Given the description of an element on the screen output the (x, y) to click on. 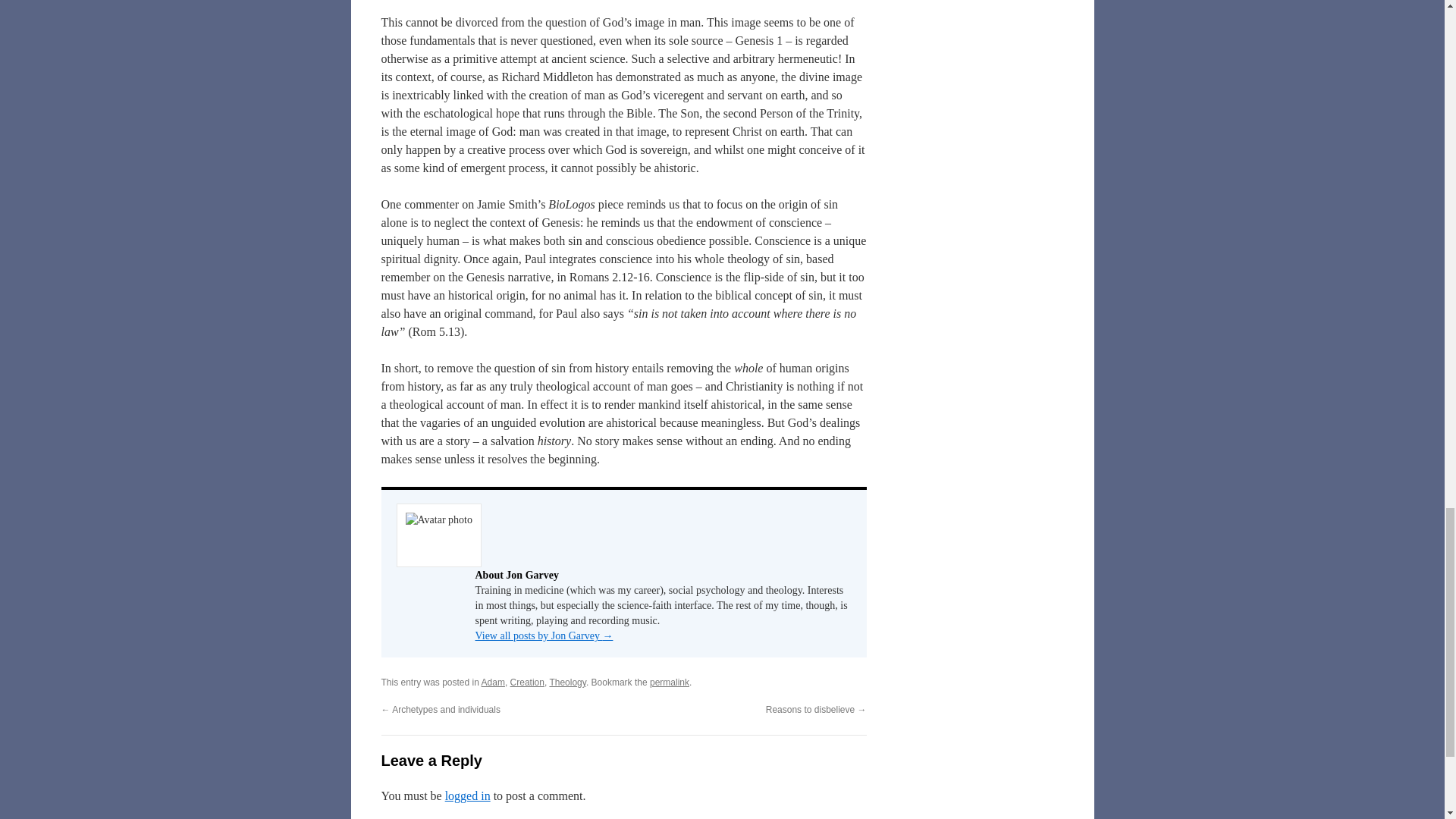
Adam (493, 682)
Creation (527, 682)
logged in (467, 795)
permalink (668, 682)
Theology (566, 682)
